Given the description of an element on the screen output the (x, y) to click on. 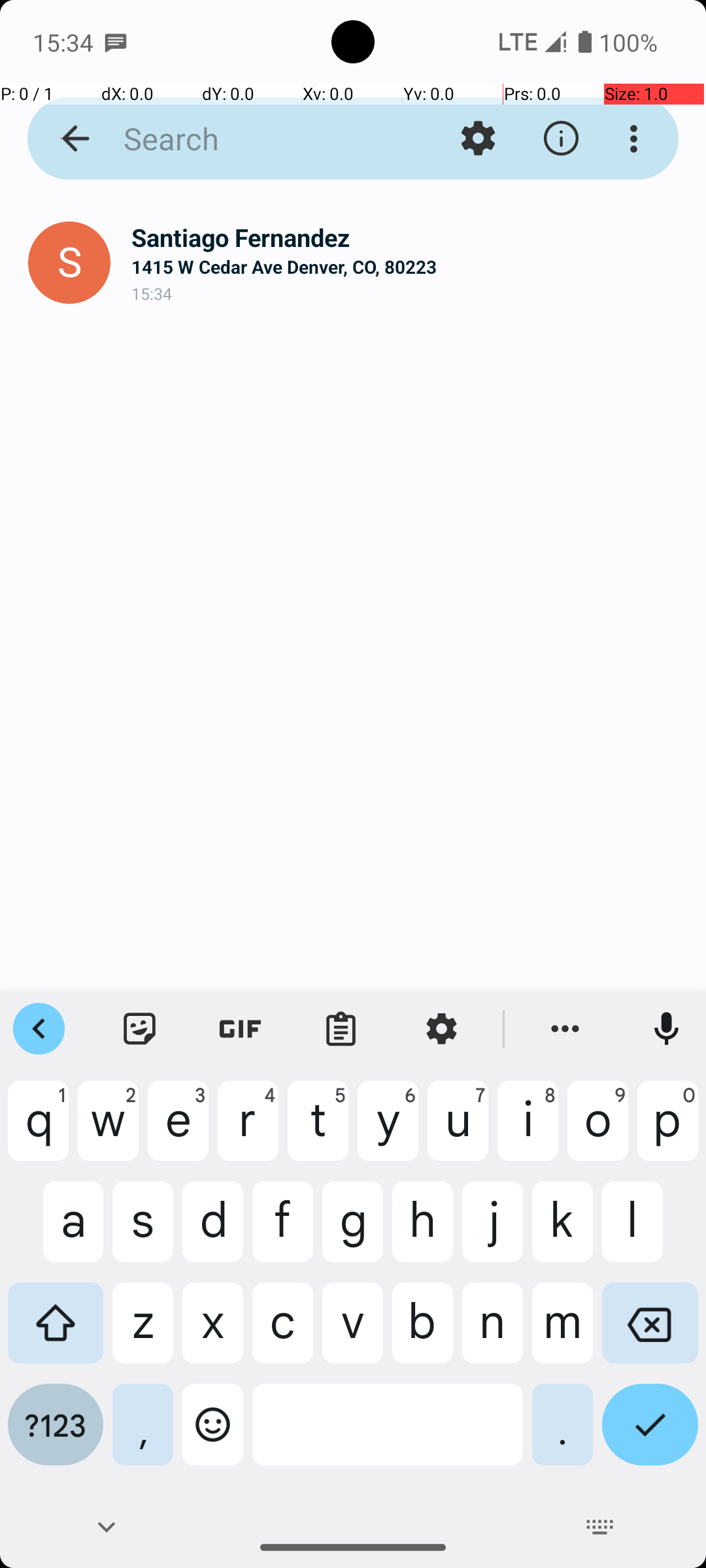
Santiago Fernandez Element type: android.widget.TextView (408, 237)
1415 W Cedar Ave Denver, CO, 80223 Element type: android.widget.TextView (408, 266)
SMS Messenger notification: Santiago Fernandez Element type: android.widget.ImageView (115, 41)
